Given the description of an element on the screen output the (x, y) to click on. 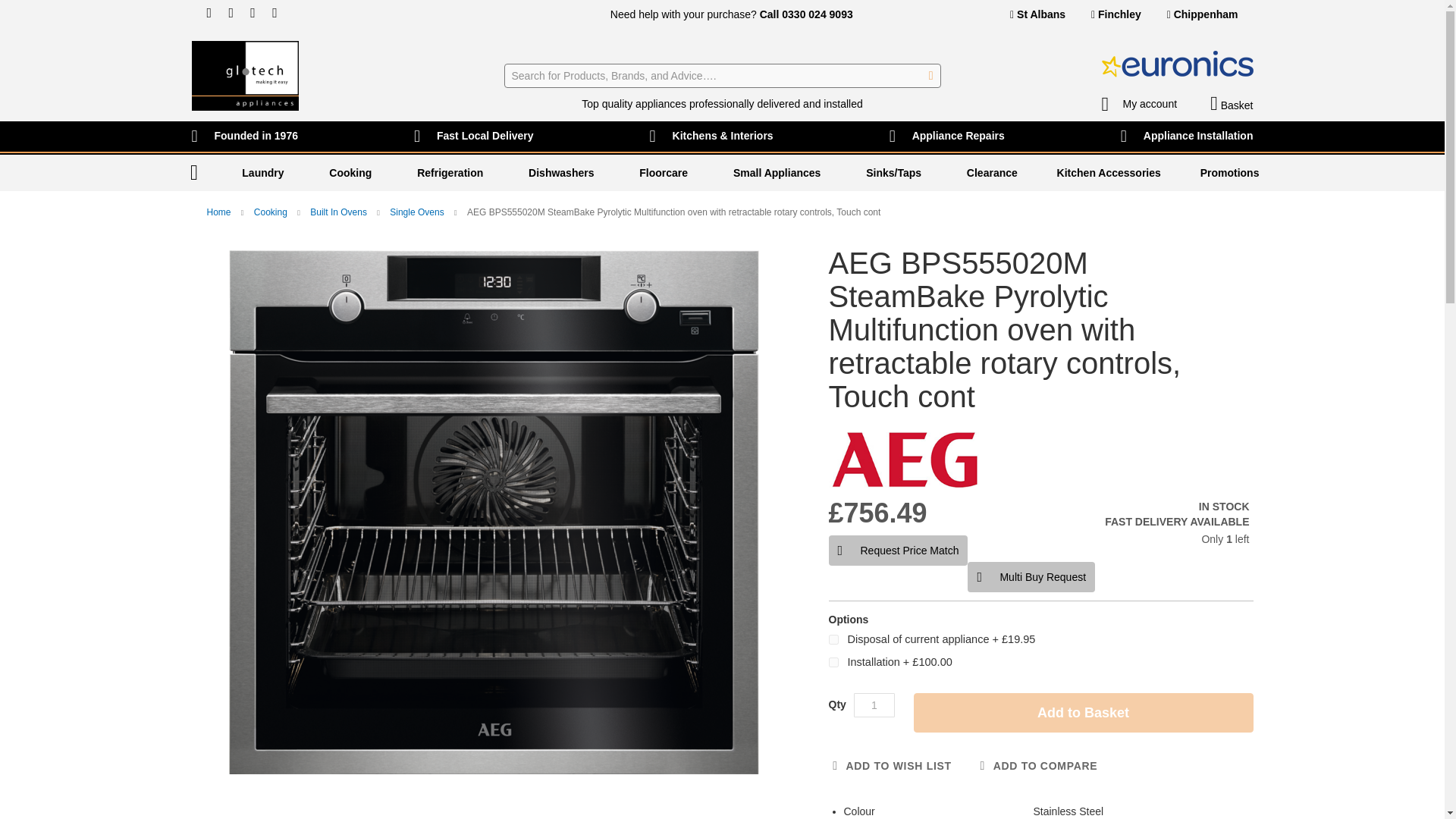
1 (874, 704)
Call 0330 024 9093 (806, 14)
For more on AEG, click here. (903, 459)
Add to Basket (1082, 712)
Home (193, 172)
St Albans (1037, 14)
14246 (833, 662)
14245 (833, 639)
Only 1 left (1135, 539)
Founded in 1976 (243, 136)
